Given the description of an element on the screen output the (x, y) to click on. 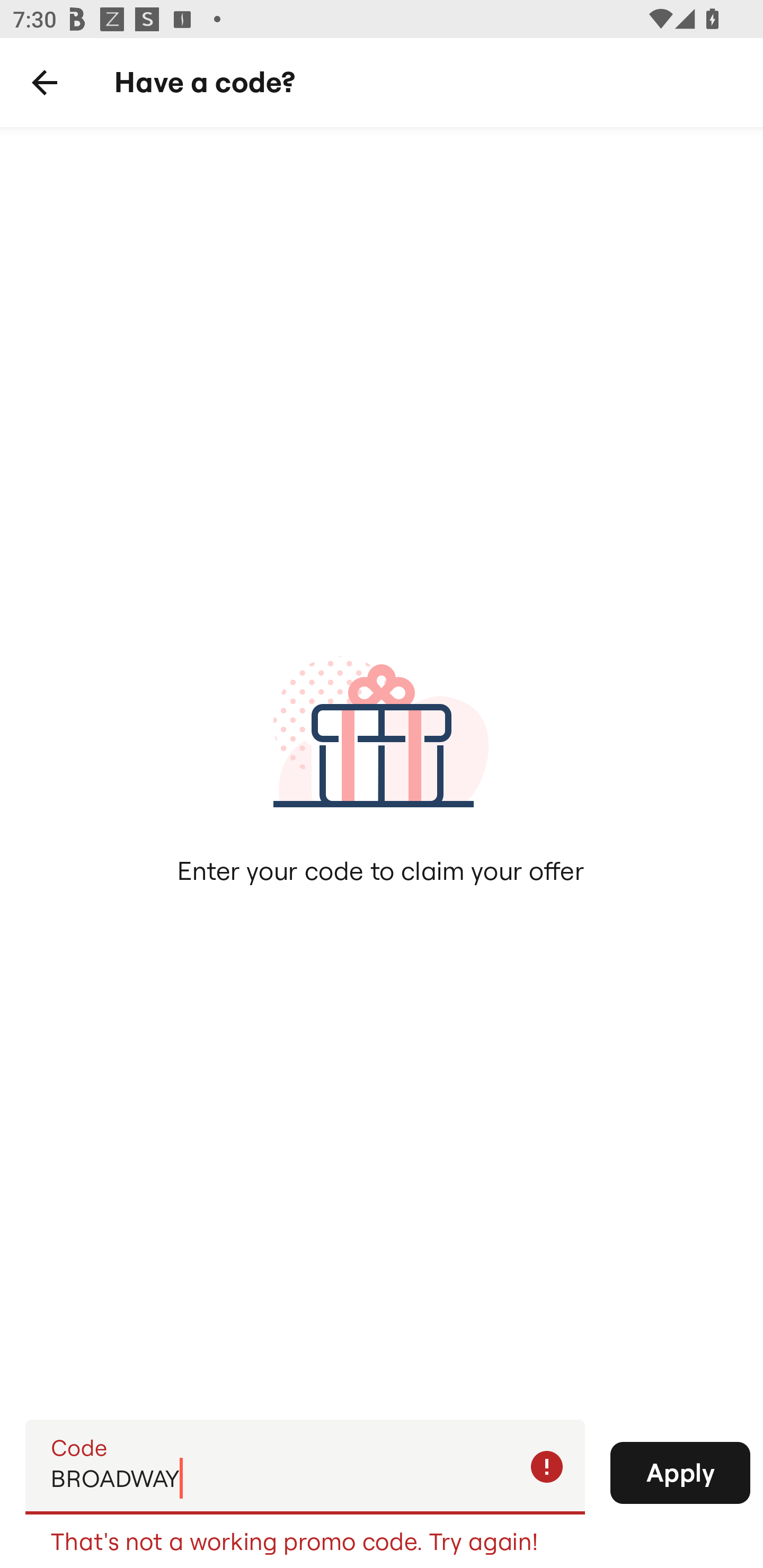
Back (44, 82)
BROADWAY (305, 1466)
Apply (680, 1473)
